Given the description of an element on the screen output the (x, y) to click on. 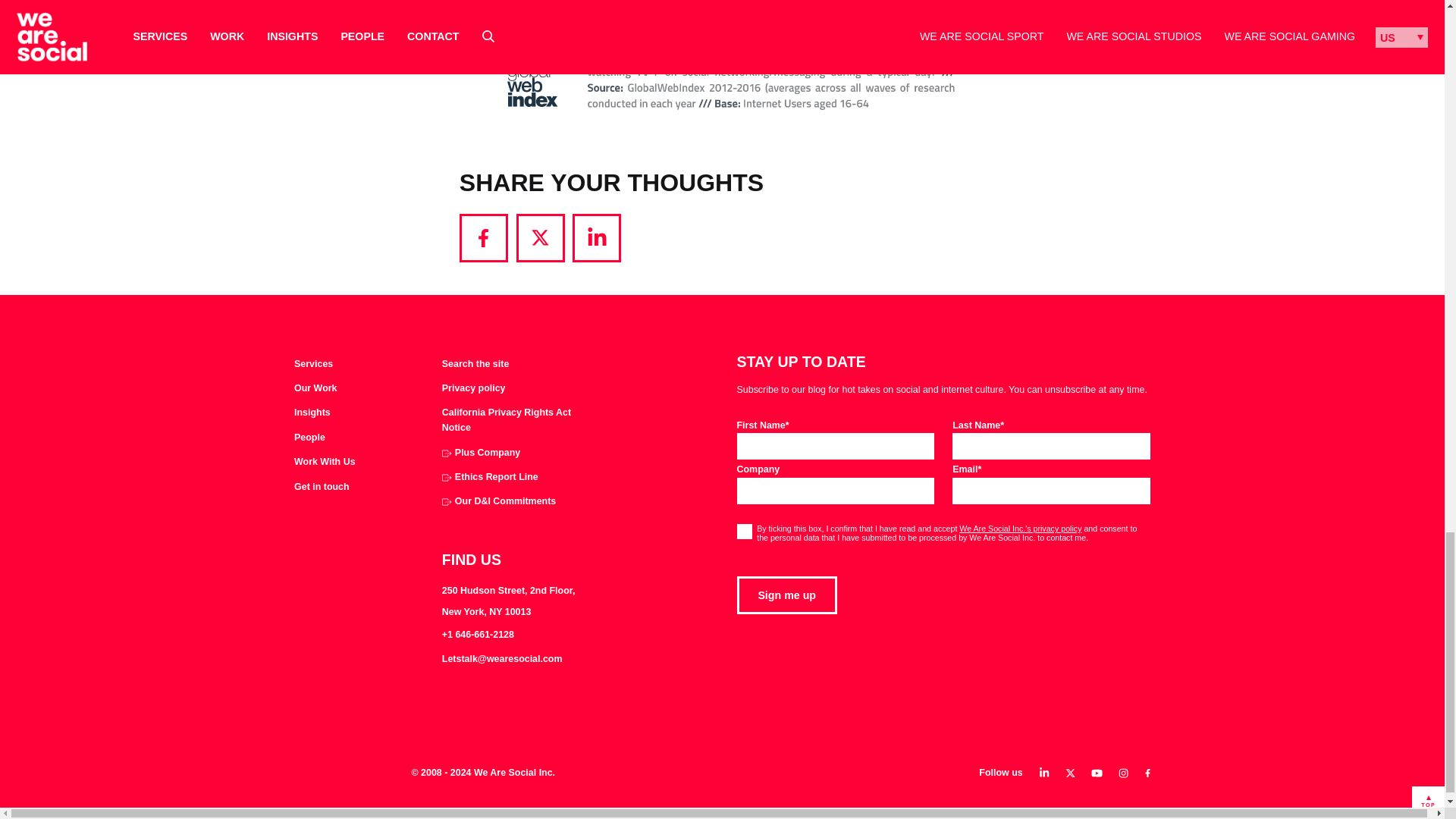
Plus Company (480, 453)
Get in Touch (321, 487)
People (309, 437)
Services (313, 364)
Sign me up (786, 595)
Search the site (475, 364)
Services (313, 364)
Share via Facebook (484, 237)
Insights (312, 412)
Share via Twitter (540, 237)
California Privacy Rights Act Notice (510, 420)
View our Twitter profile (1070, 773)
Share via LinkedIn (596, 237)
Share via Twitter (540, 237)
